Given the description of an element on the screen output the (x, y) to click on. 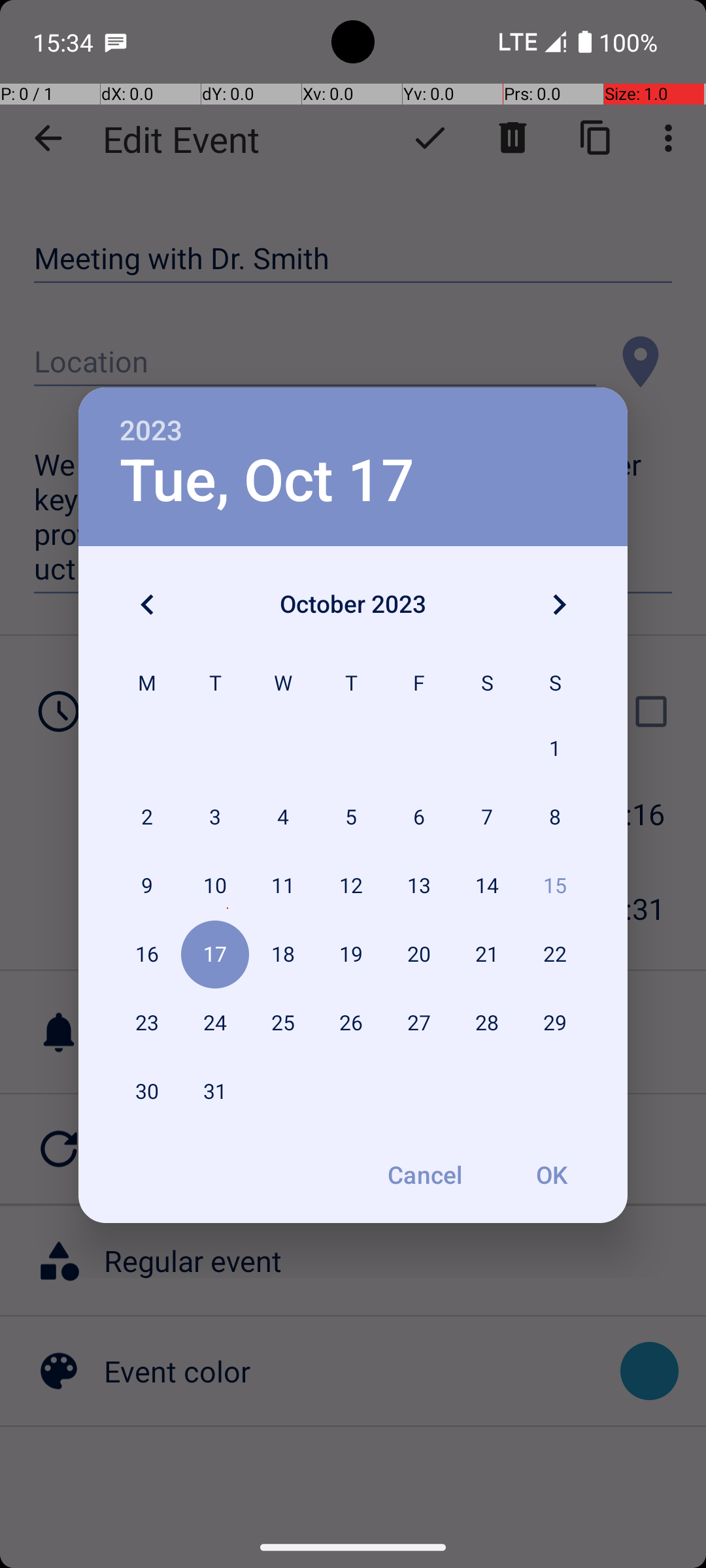
Tue, Oct 17 Element type: android.widget.TextView (267, 480)
